Given the description of an element on the screen output the (x, y) to click on. 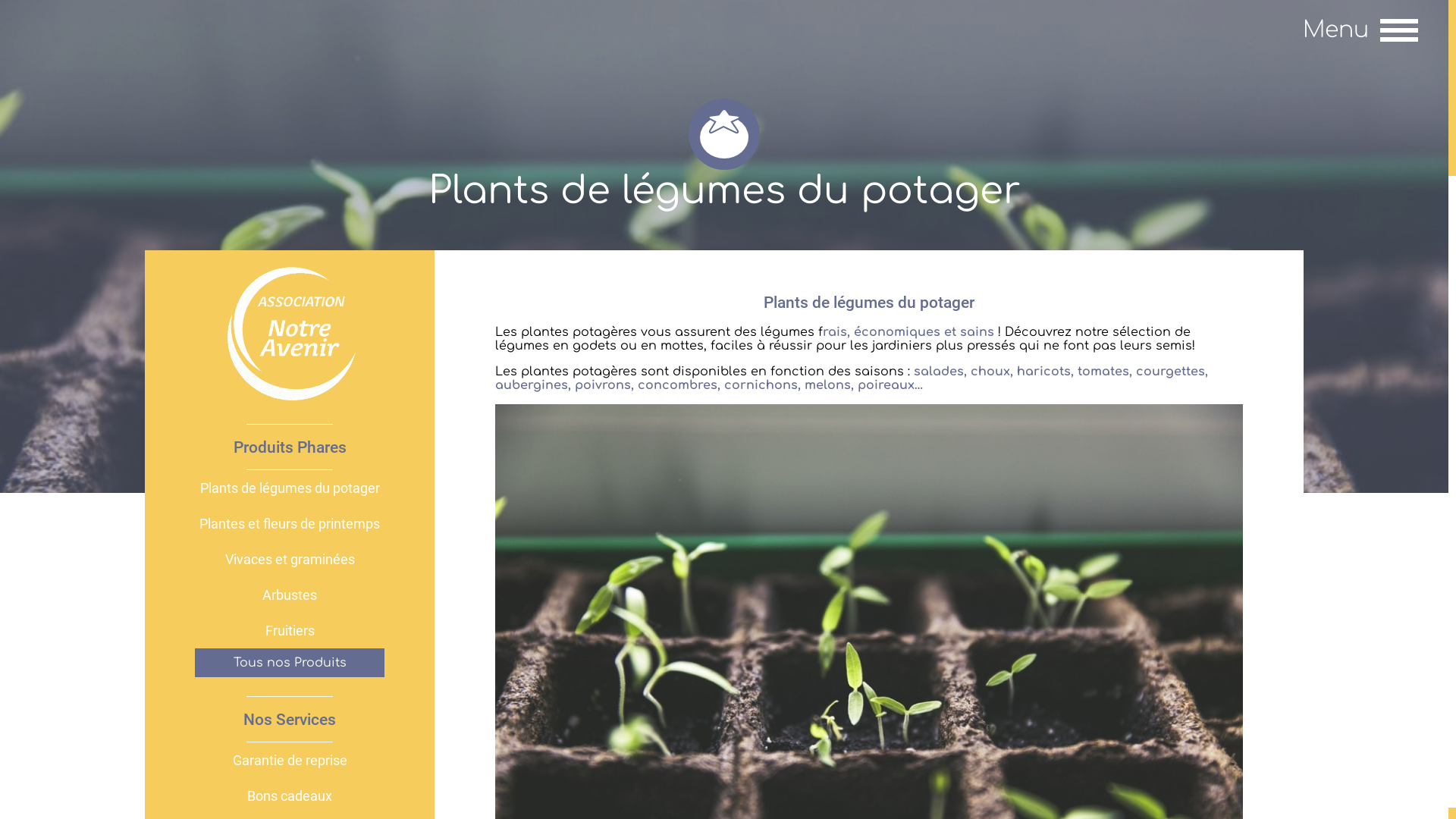
Acceuil Element type: hover (288, 397)
Arbustes Element type: text (289, 594)
Tous nos Produits Element type: text (289, 662)
Bons cadeaux Element type: text (289, 795)
Fruitiers Element type: text (289, 630)
Plantes et fleurs de printemps Element type: text (289, 523)
Garantie de reprise Element type: text (289, 760)
